Given the description of an element on the screen output the (x, y) to click on. 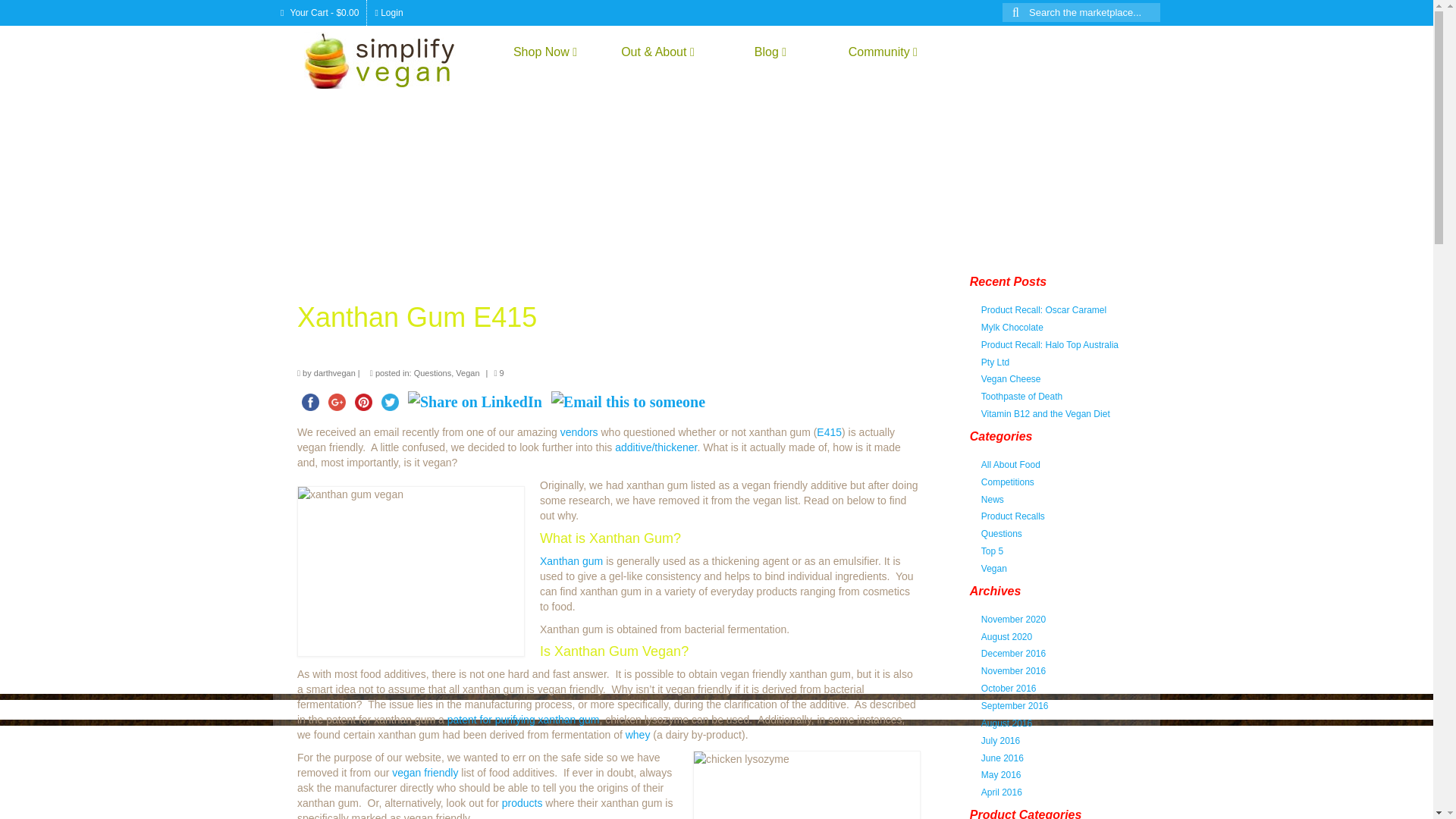
Facebook (310, 402)
Email (628, 401)
Login (388, 12)
LinkedIn (475, 401)
View your shopping cart (319, 12)
Login (388, 12)
simplifyvegan.com.au (391, 59)
Pinterest (363, 402)
Twitter (390, 402)
